Given the description of an element on the screen output the (x, y) to click on. 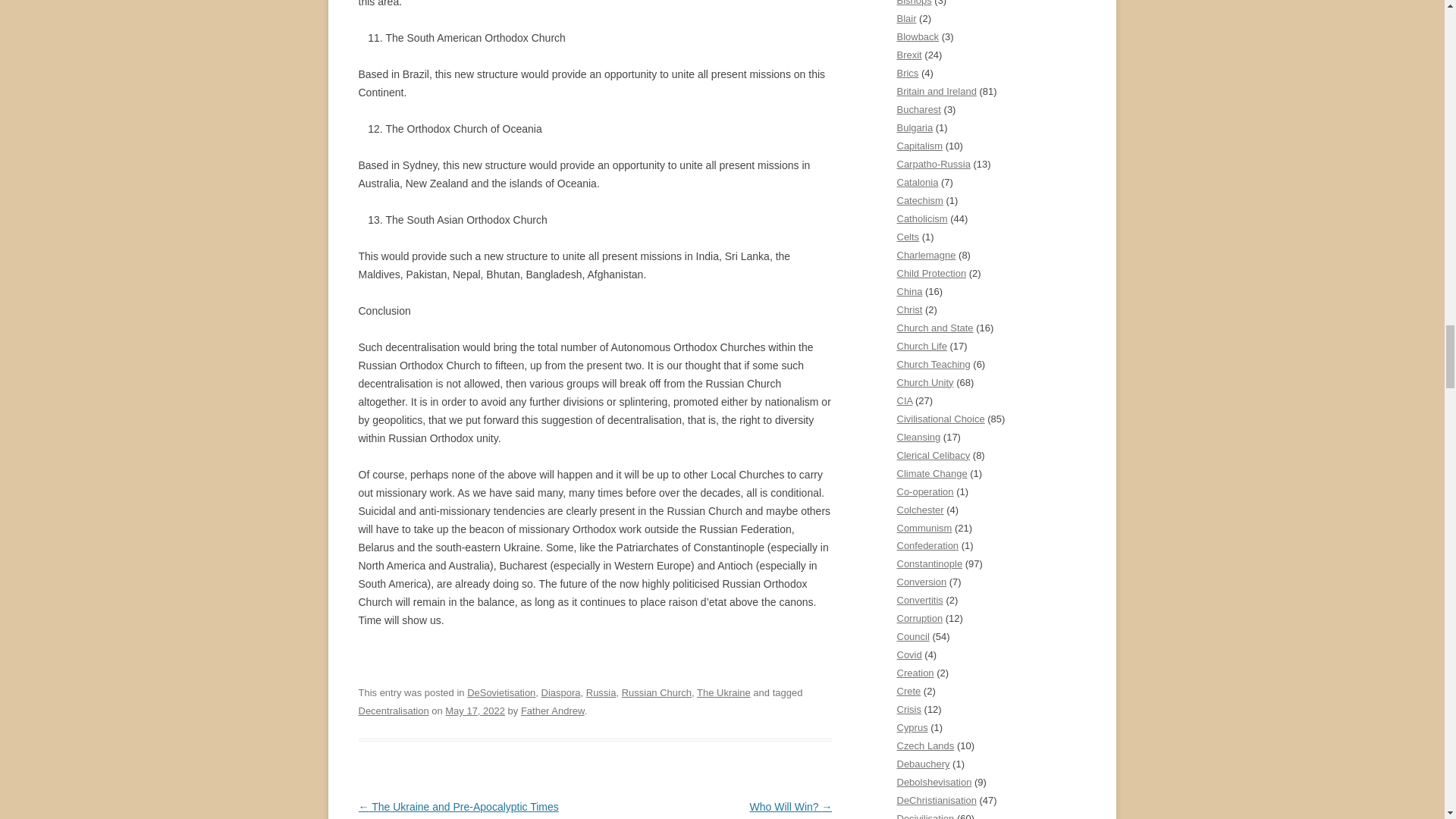
DeSovietisation (501, 692)
6:56 am (475, 710)
The Ukraine (724, 692)
Father Andrew (553, 710)
Decentralisation (393, 710)
May 17, 2022 (475, 710)
Russia (600, 692)
Diaspora (560, 692)
View all posts by Father Andrew (553, 710)
Russian Church (656, 692)
